Given the description of an element on the screen output the (x, y) to click on. 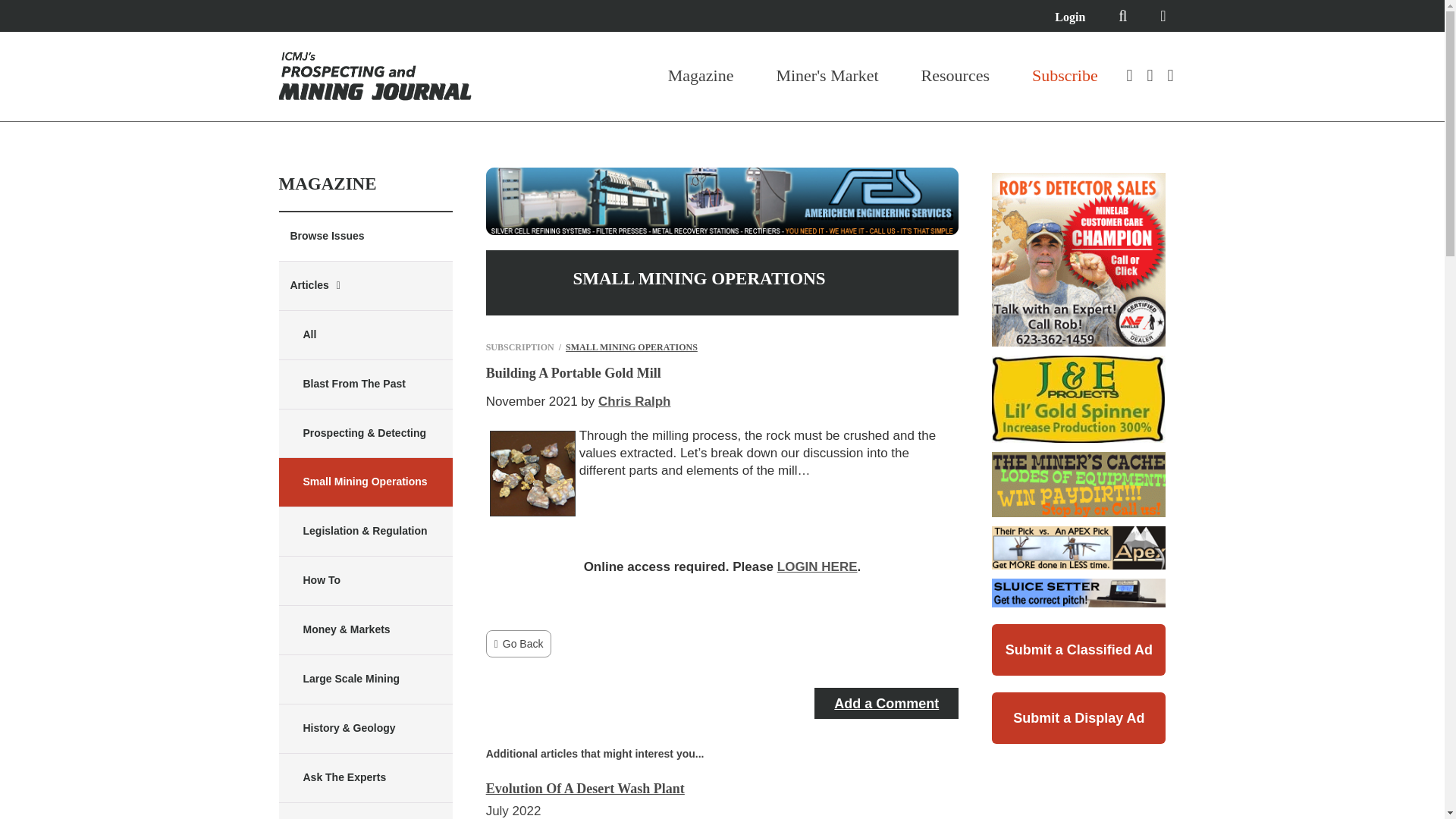
Login (1069, 16)
Let us help you recover valuable metals. 888-437-1187 (722, 201)
Resources (955, 75)
Miner's Market (826, 75)
The BEST Bundle Package and FREE Field Instruction! (1078, 259)
Get the pitch correct on your sluice box! (1078, 592)
Magazine (700, 75)
Proven to catch the finest gold! (1078, 399)
